Given the description of an element on the screen output the (x, y) to click on. 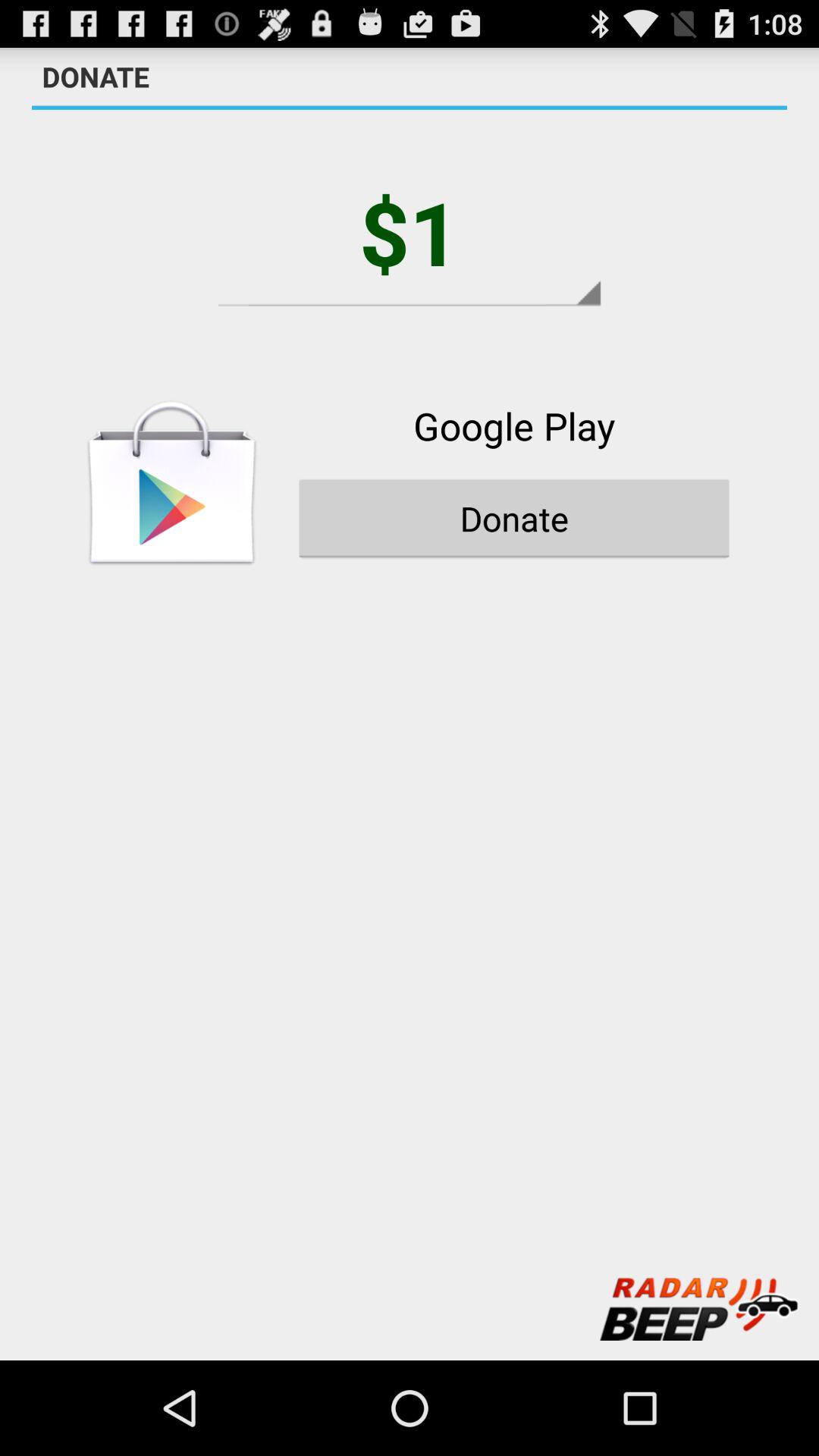
launch the $1 (409, 231)
